Given the description of an element on the screen output the (x, y) to click on. 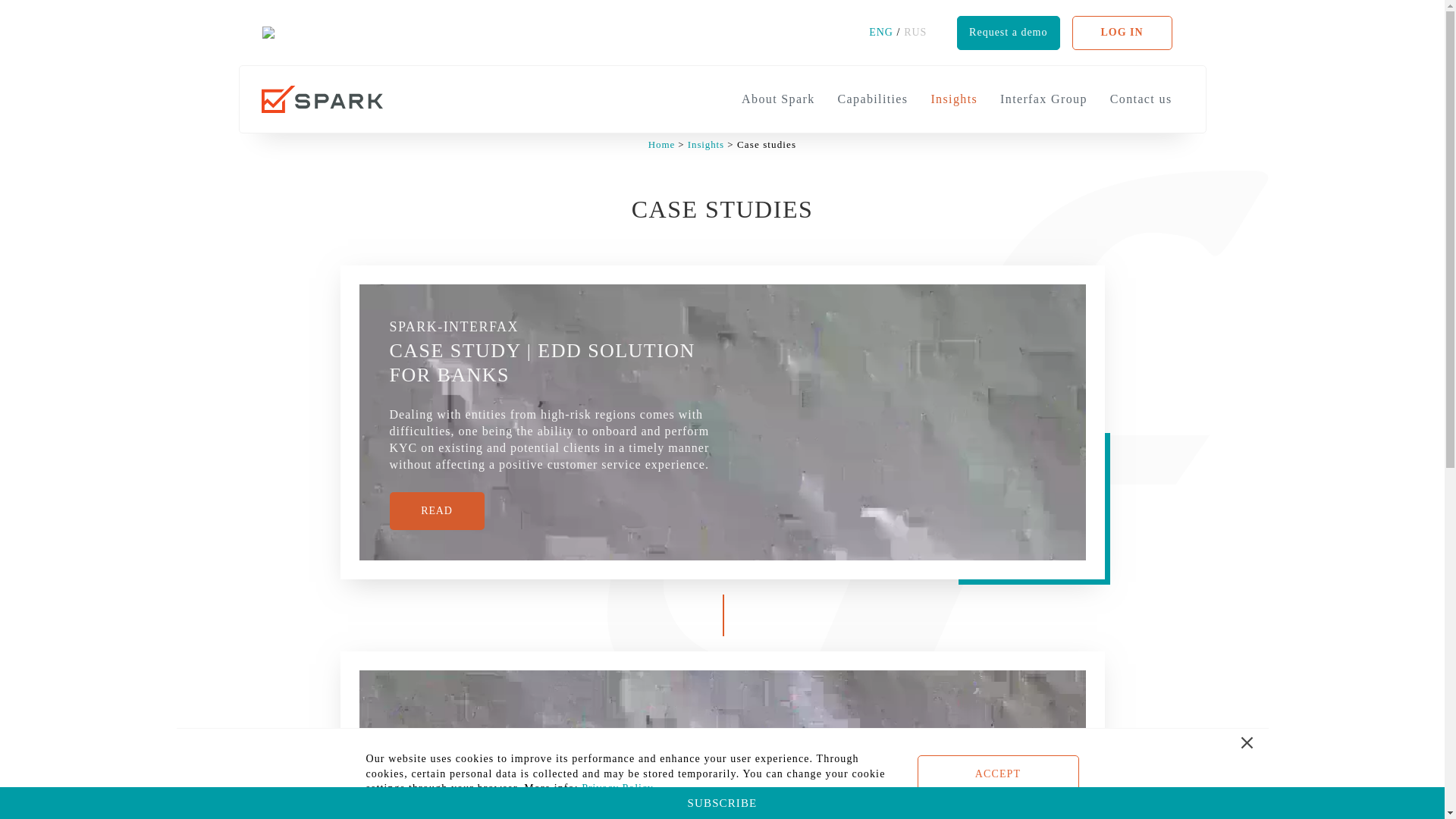
Insights (953, 98)
RUS (915, 31)
Insights (705, 143)
Home (662, 143)
Capabilities (873, 98)
Request a demo (1007, 32)
Privacy Policy (616, 787)
Home (662, 143)
READ (437, 510)
ENG (880, 31)
Contact us (1140, 98)
Insights (705, 143)
Interfax Group (1043, 98)
About Spark (777, 98)
LOG IN (1121, 32)
